Given the description of an element on the screen output the (x, y) to click on. 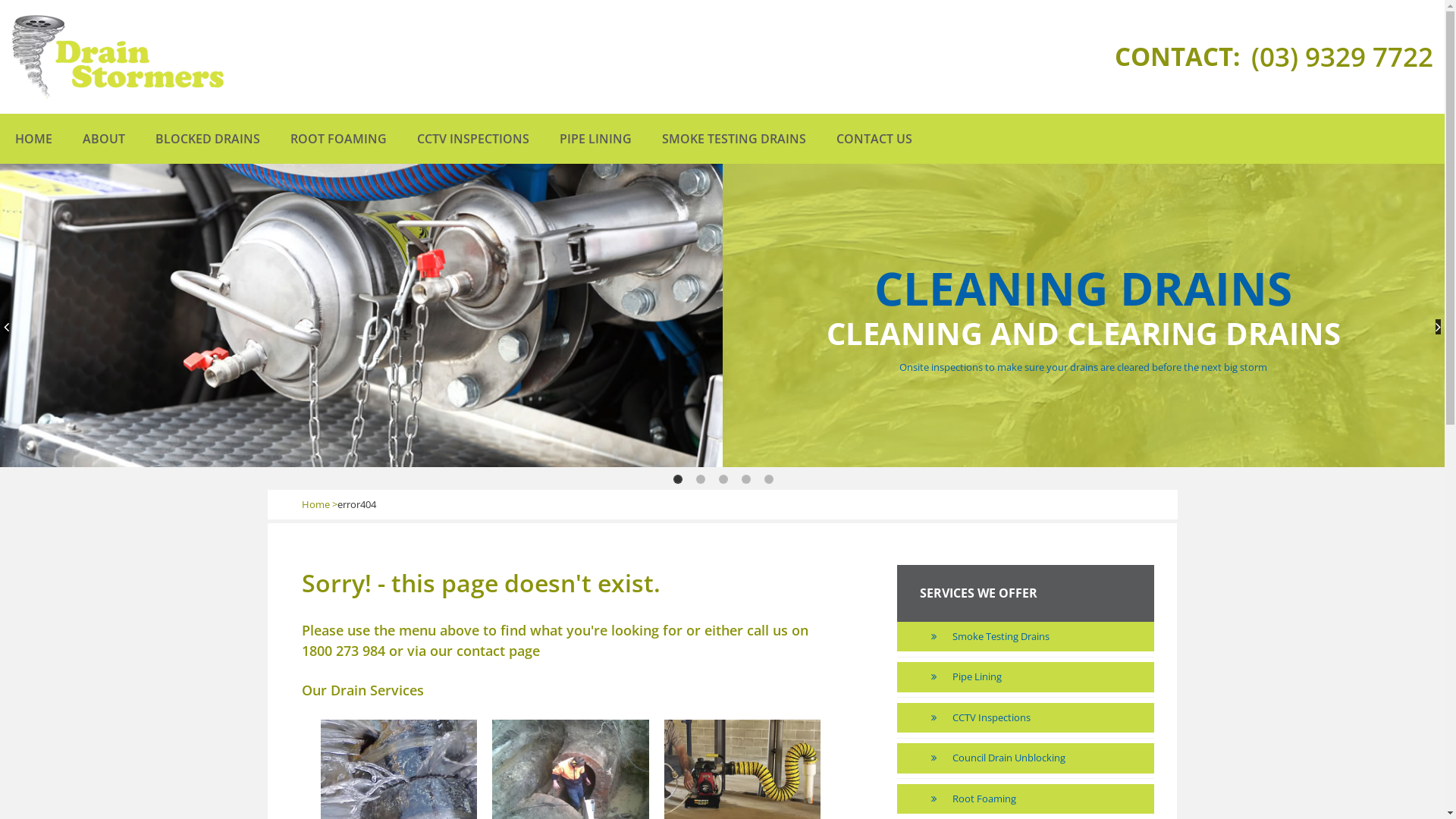
BLOCKED DRAINS Element type: text (207, 138)
CCTV Inspections Element type: text (1043, 717)
HOME Element type: text (33, 138)
contact Element type: text (480, 650)
Root Foaming Element type: text (1043, 798)
(03) 9329 7722 Element type: text (1342, 56)
3 Element type: text (723, 478)
1 Element type: text (677, 478)
Pipe Lining Element type: text (1043, 676)
ROOT FOAMING Element type: text (338, 138)
CONTACT US Element type: text (874, 138)
2 Element type: text (700, 478)
Council Drain Unblocking Element type: text (1043, 757)
Home > Element type: text (319, 504)
ABOUT Element type: text (103, 138)
5 Element type: text (768, 478)
PIPE LINING Element type: text (595, 138)
4 Element type: text (745, 478)
CCTV INSPECTIONS Element type: text (472, 138)
SMOKE TESTING DRAINS Element type: text (733, 138)
Smoke Testing Drains Element type: text (1043, 636)
